Given the description of an element on the screen output the (x, y) to click on. 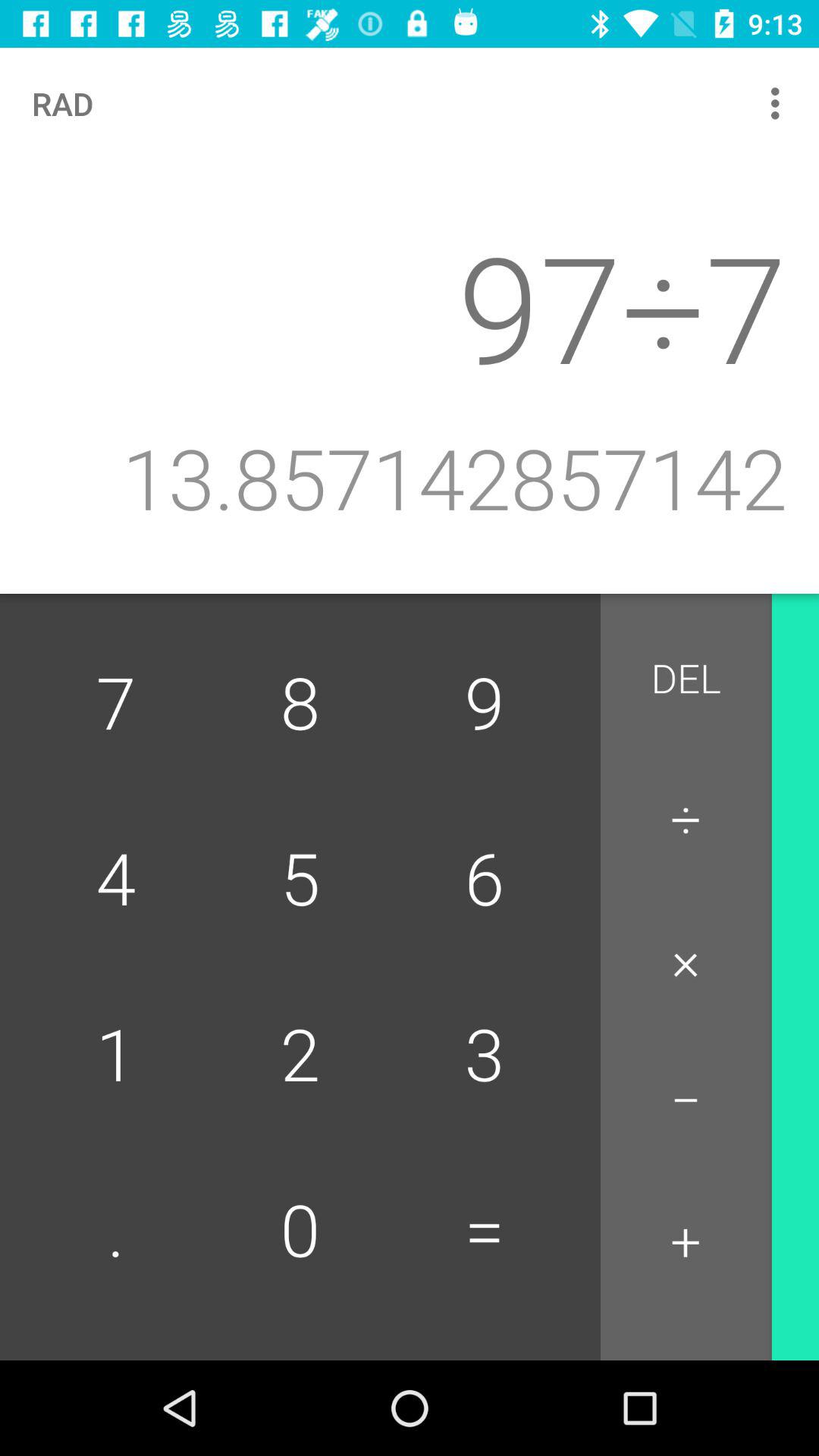
swipe until ( item (815, 1249)
